Given the description of an element on the screen output the (x, y) to click on. 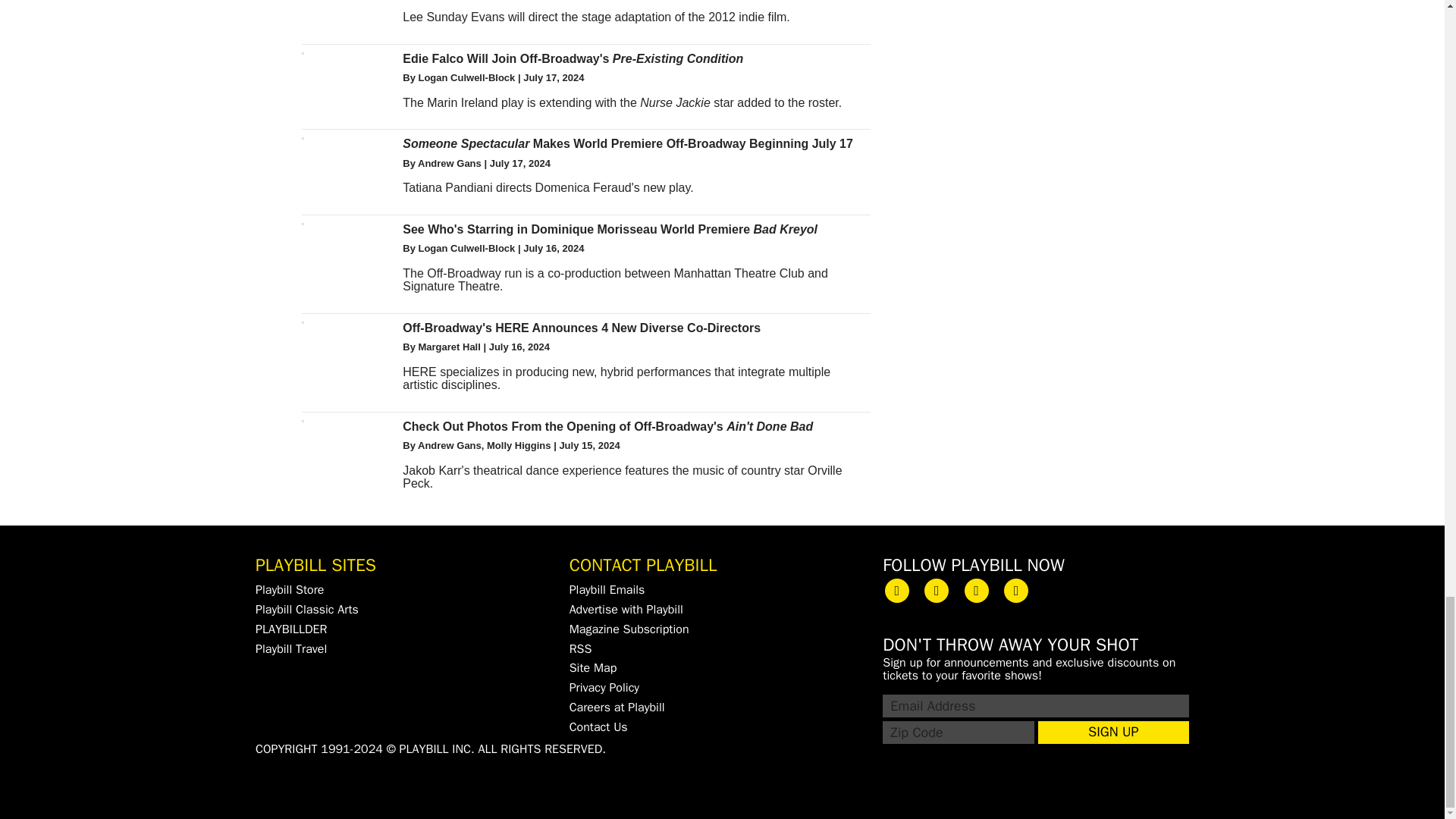
Sign Up (1113, 732)
